Given the description of an element on the screen output the (x, y) to click on. 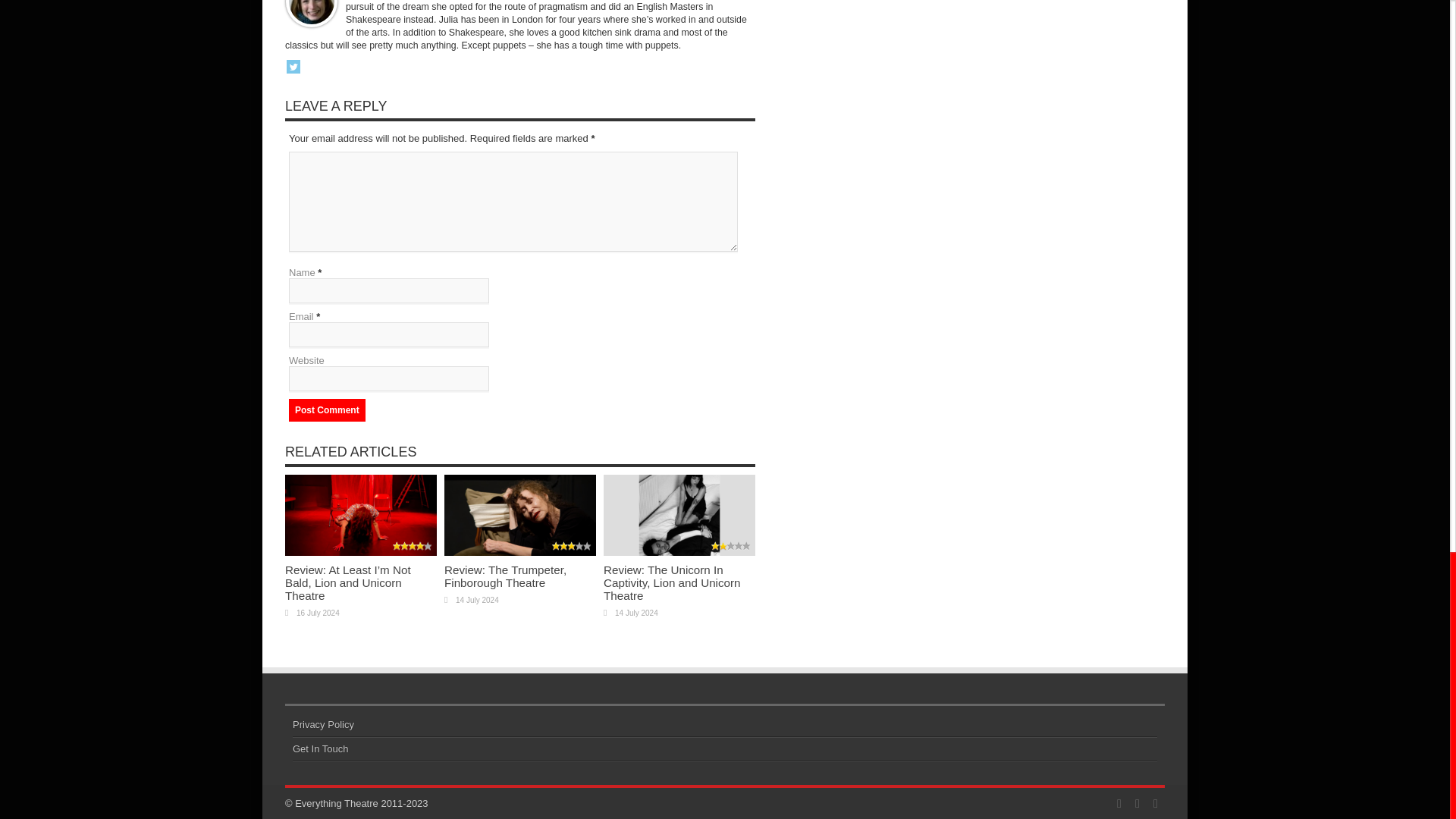
Post Comment (326, 409)
Permalink to Review: The Trumpeter, Finborough Theatre (505, 575)
Excellent (412, 546)
Permalink to Review: The Trumpeter, Finborough Theatre (519, 552)
Good (571, 546)
